Given the description of an element on the screen output the (x, y) to click on. 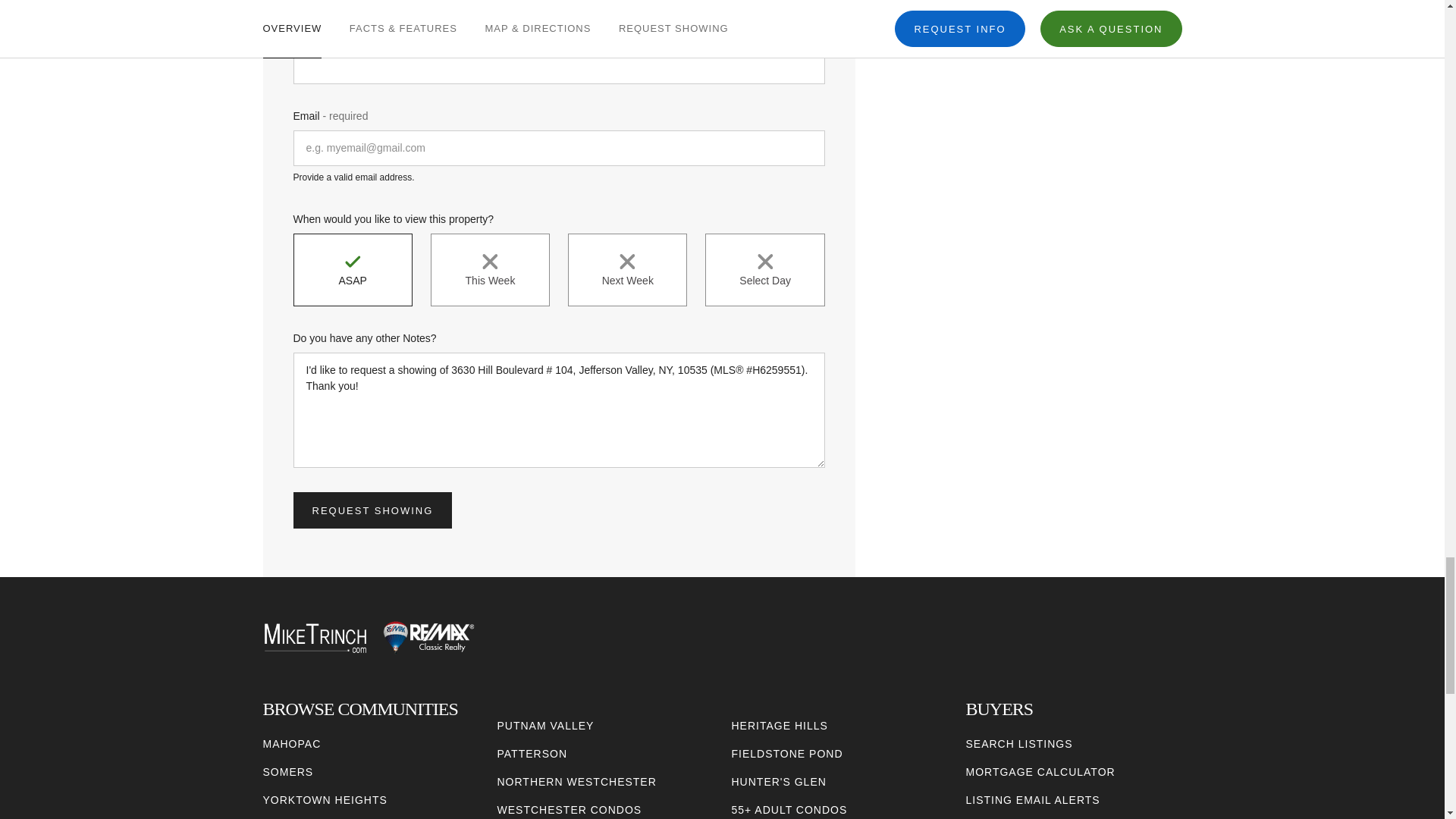
This Week (490, 269)
Next Week (627, 269)
ASAP (352, 269)
